Given the description of an element on the screen output the (x, y) to click on. 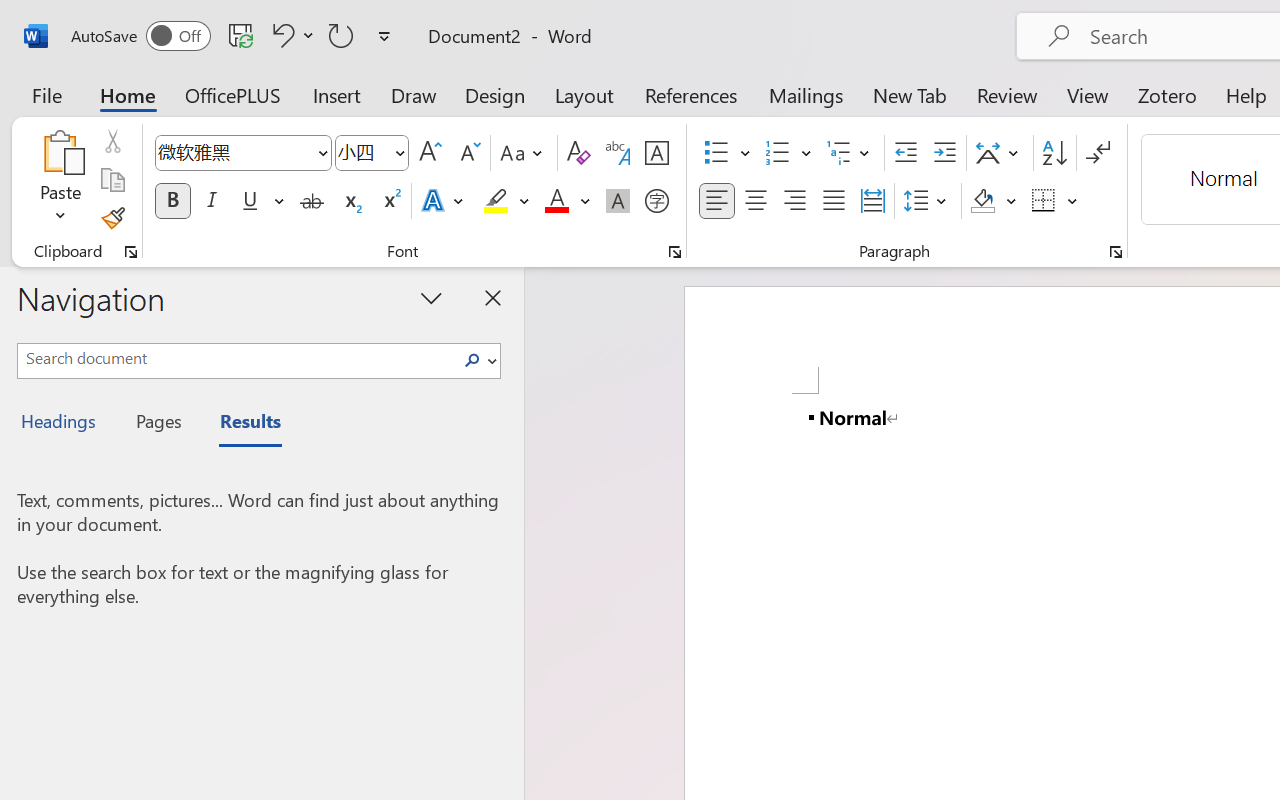
Shading (993, 201)
Home (127, 94)
Increase Indent (944, 153)
Justify (834, 201)
Quick Access Toolbar (233, 36)
Bullets (716, 153)
Underline (261, 201)
Borders (1055, 201)
Mailings (806, 94)
File Tab (46, 94)
Borders (1044, 201)
New Tab (909, 94)
References (690, 94)
